Given the description of an element on the screen output the (x, y) to click on. 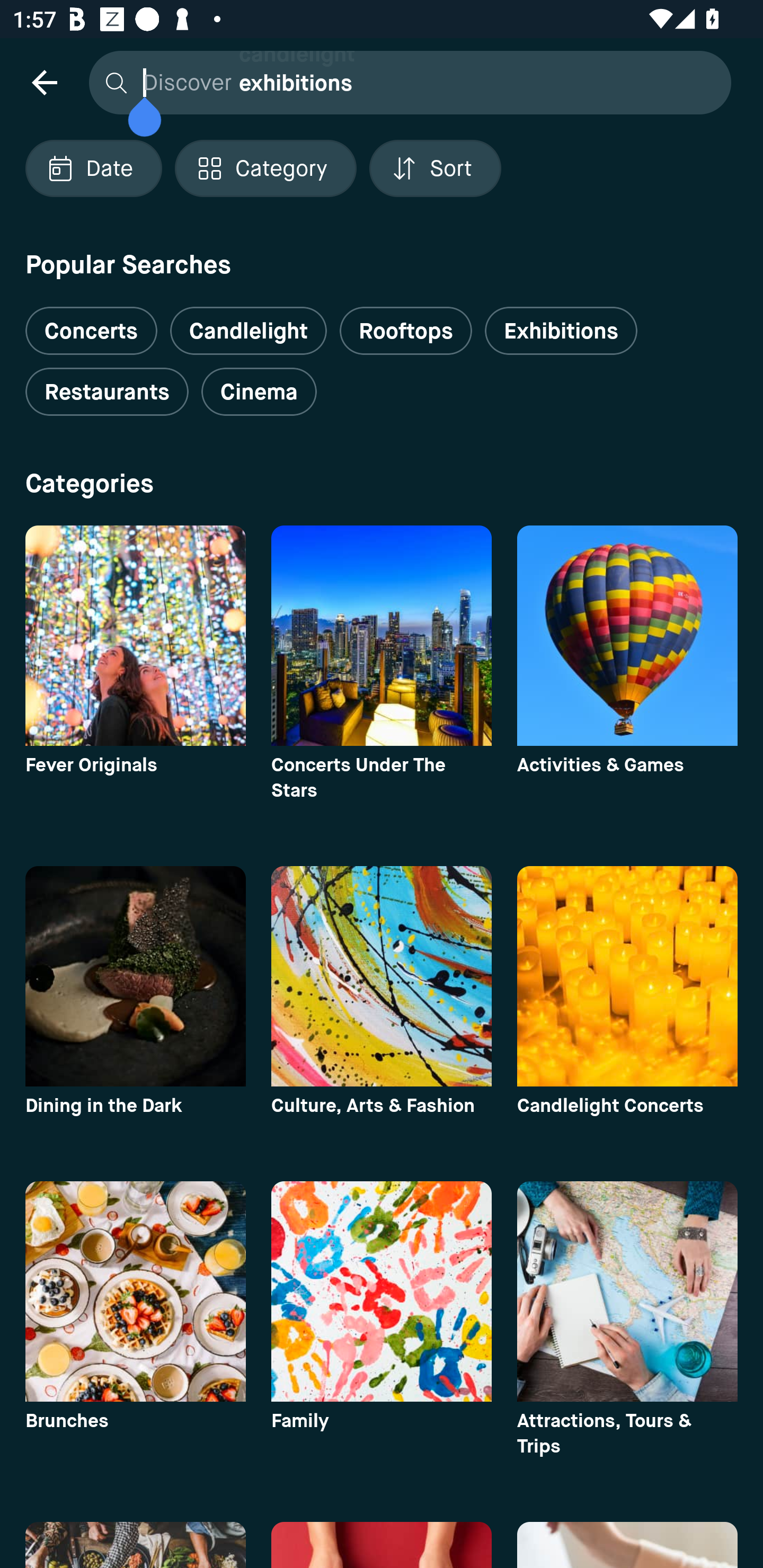
navigation icon (44, 81)
Discover candlelight exhibitions (405, 81)
Localized description Date (93, 168)
Localized description Category (265, 168)
Localized description Sort (435, 168)
Concerts (91, 323)
Candlelight (248, 330)
Rooftops (405, 330)
Exhibitions (560, 330)
Restaurants (106, 391)
Cinema (258, 391)
category image (135, 635)
category image (381, 635)
category image (627, 635)
category image (135, 975)
category image (381, 975)
category image (627, 975)
category image (135, 1290)
category image (381, 1290)
category image (627, 1290)
